Given the description of an element on the screen output the (x, y) to click on. 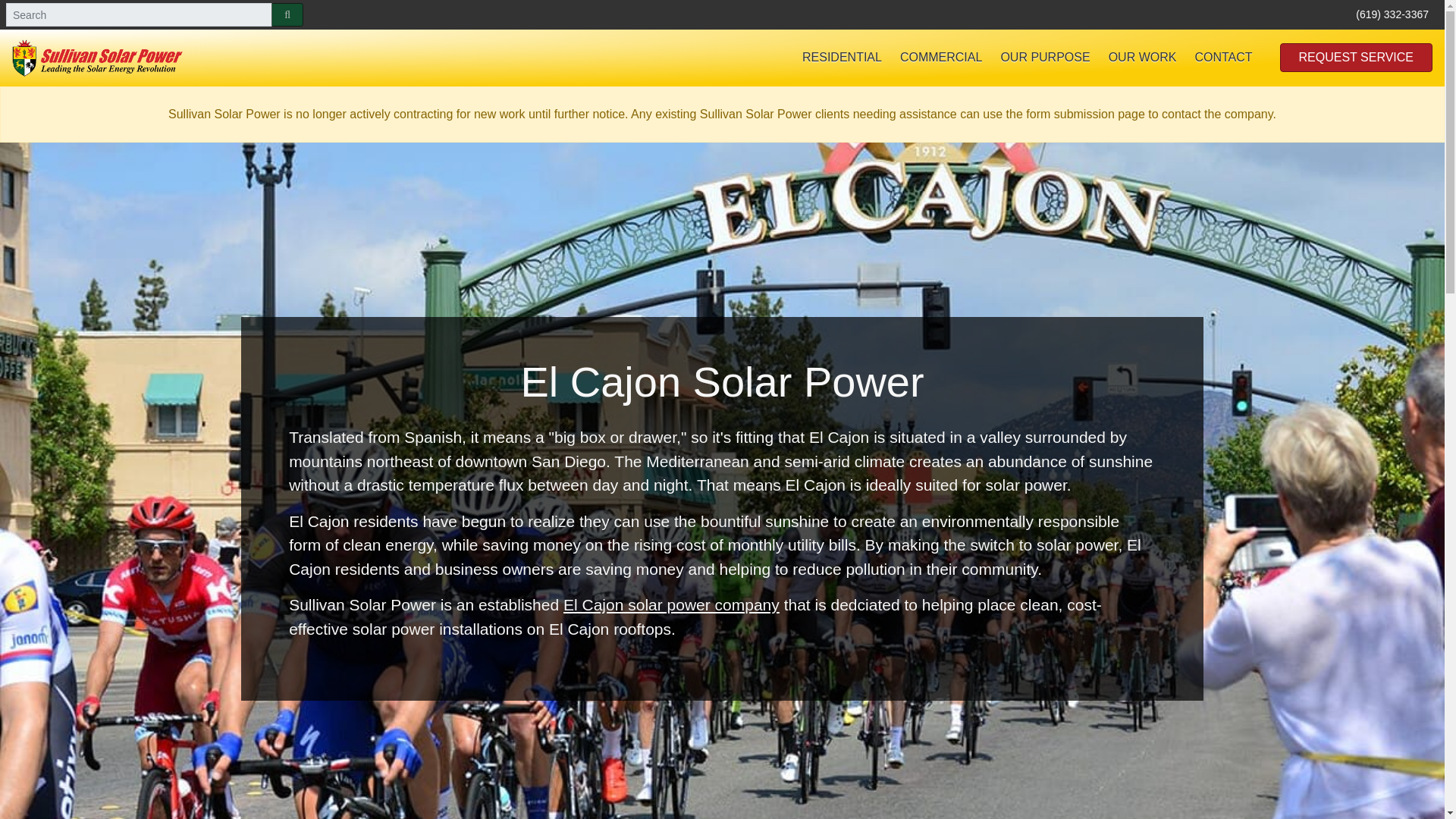
OUR PURPOSE (1045, 57)
CONTACT (1222, 57)
REQUEST SERVICE (1355, 57)
El Cajon solar power company (670, 604)
COMMERCIAL (941, 57)
OUR WORK (1142, 57)
RESIDENTIAL (842, 57)
